Given the description of an element on the screen output the (x, y) to click on. 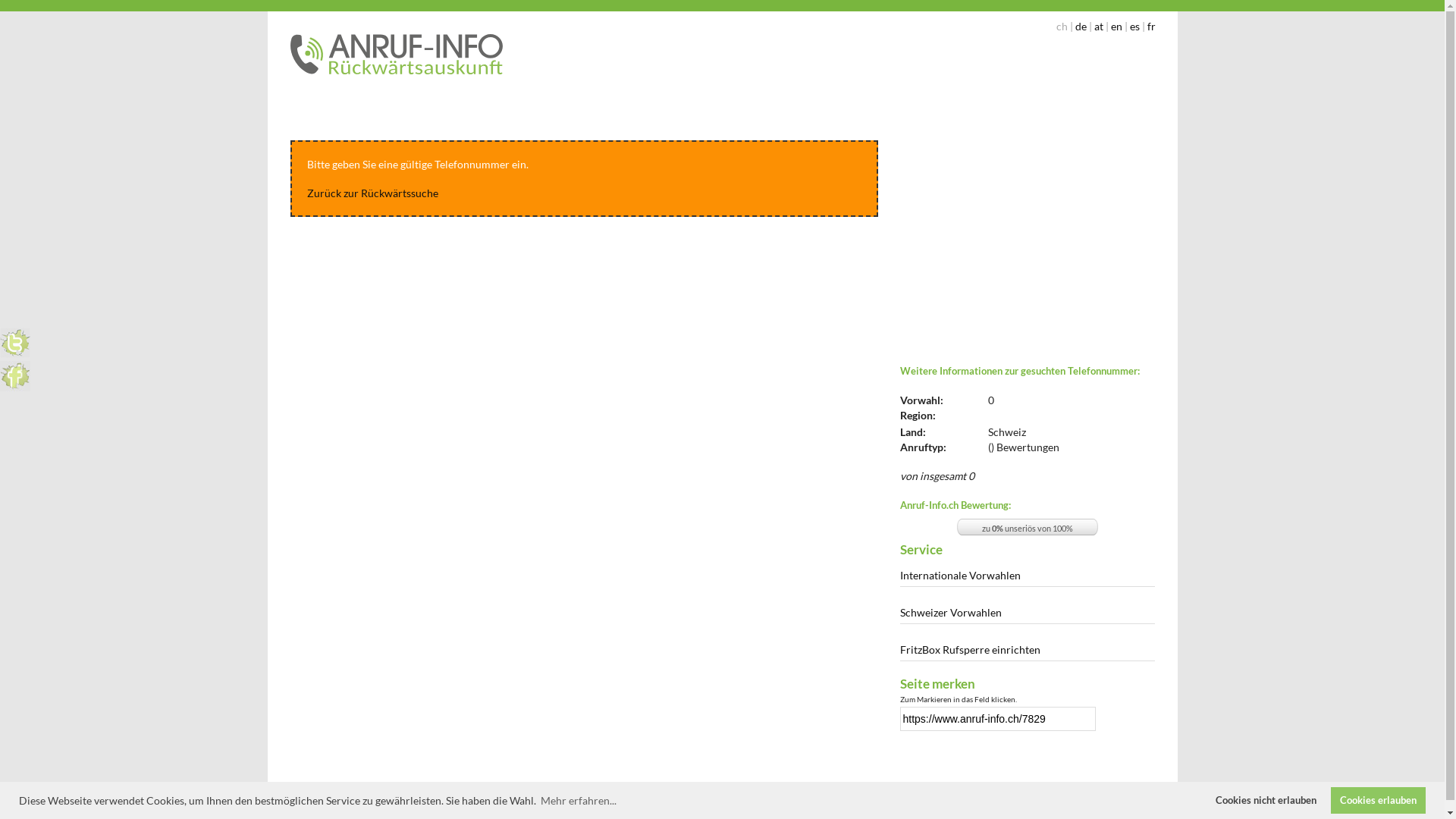
Schweizer Vorwahlen Element type: text (1026, 614)
Datenschutz Element type: text (784, 789)
Mehr erfahren... Element type: text (578, 800)
en Element type: text (1115, 25)
es Element type: text (1134, 25)
de Element type: text (1080, 25)
Cookies erlauben Element type: text (1377, 800)
https://www.anruf-info.ch/7829 Element type: text (997, 718)
AGB Element type: text (753, 789)
fr Element type: text (1150, 25)
Impressum Element type: text (724, 789)
Advertisement Element type: hover (1026, 231)
FritzBox Rufsperre einrichten Element type: text (1026, 651)
at Element type: text (1097, 25)
Internationale Vorwahlen Element type: text (1026, 576)
Cookies nicht erlauben Element type: text (1265, 800)
